Given the description of an element on the screen output the (x, y) to click on. 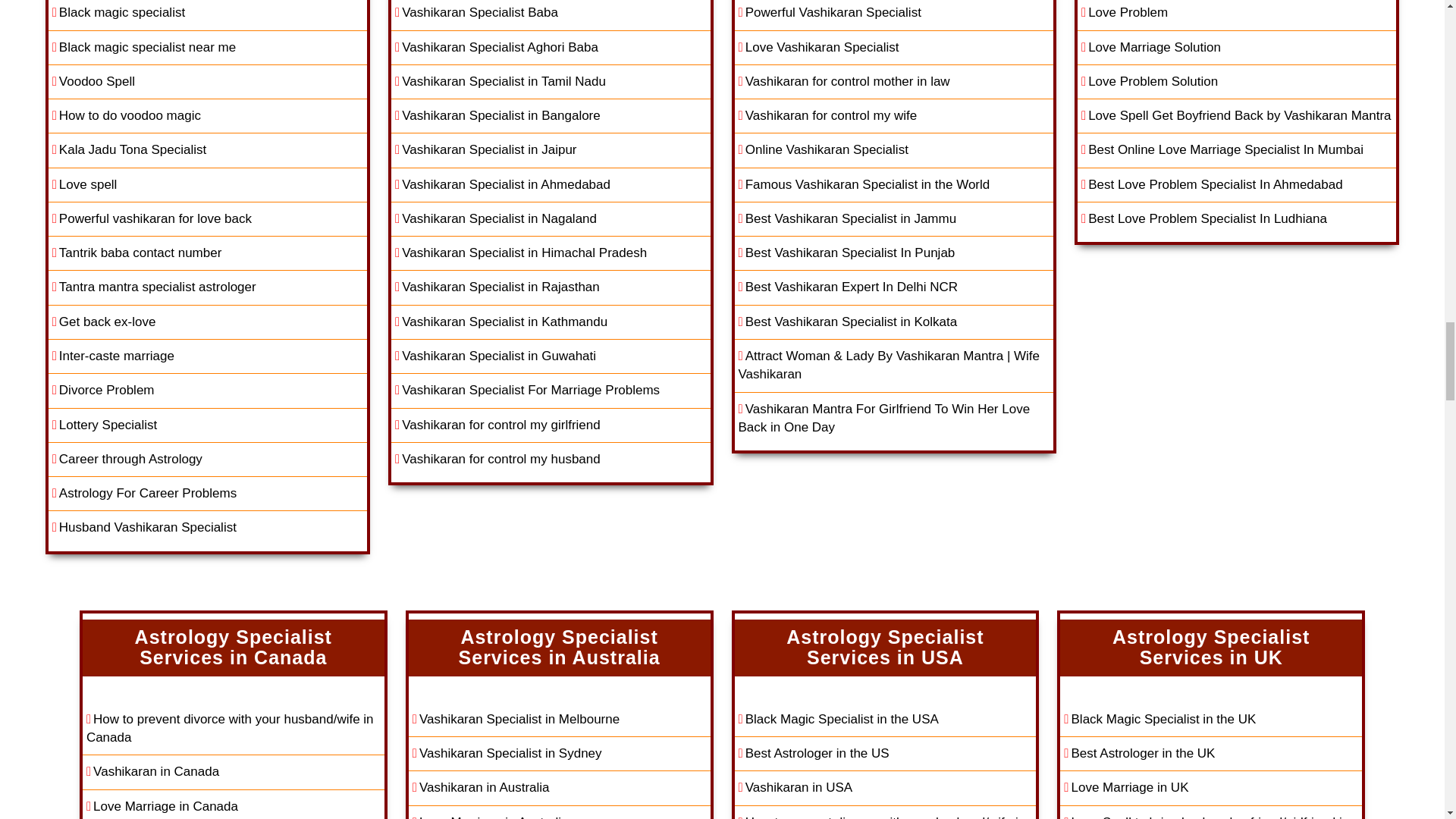
Vashikaran Specialist in Jaipur (550, 150)
Lottery Specialist (207, 425)
Divorce Problem (207, 390)
Vashikaran Specialist in Nagaland (550, 219)
Voodoo Spell (207, 82)
How to do voodoo magic (207, 116)
Husband Vashikaran Specialist (207, 527)
Love spell (207, 185)
Vashikaran Specialist in Ahmedabad (550, 185)
Black magic specialist near me (207, 48)
